Given the description of an element on the screen output the (x, y) to click on. 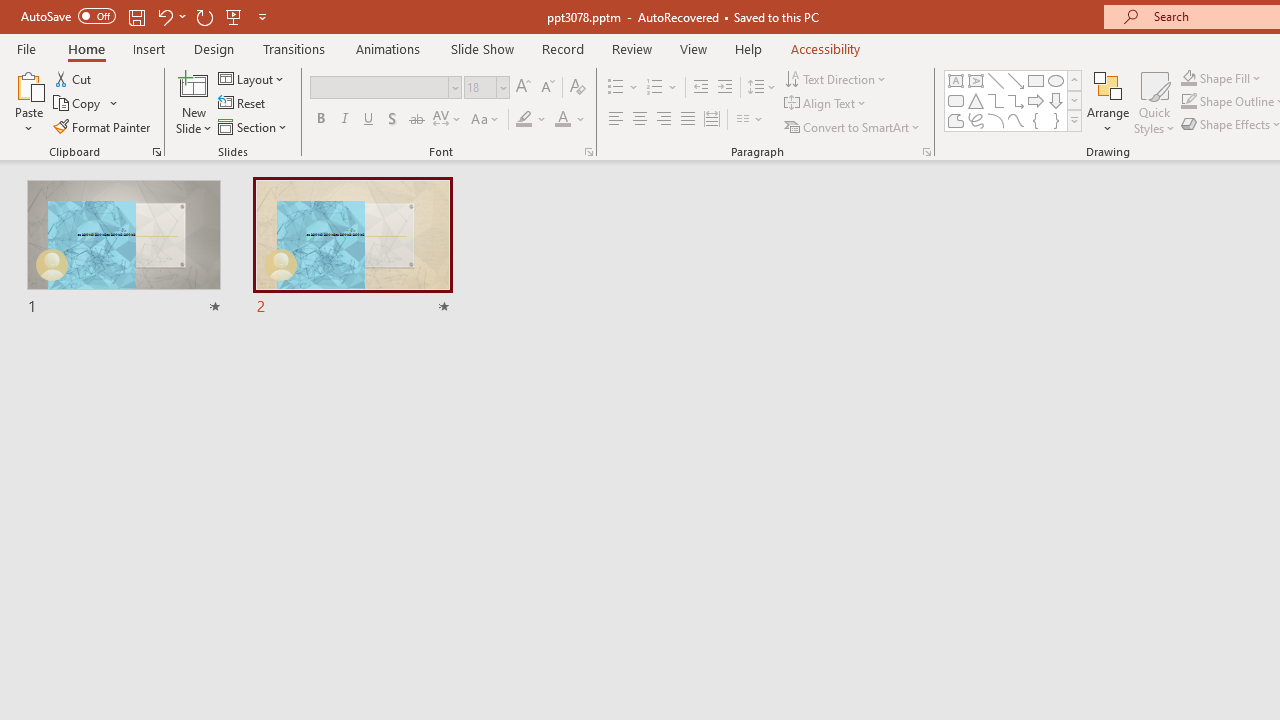
Shape Fill Dark Green, Accent 2 (1188, 78)
